Given the description of an element on the screen output the (x, y) to click on. 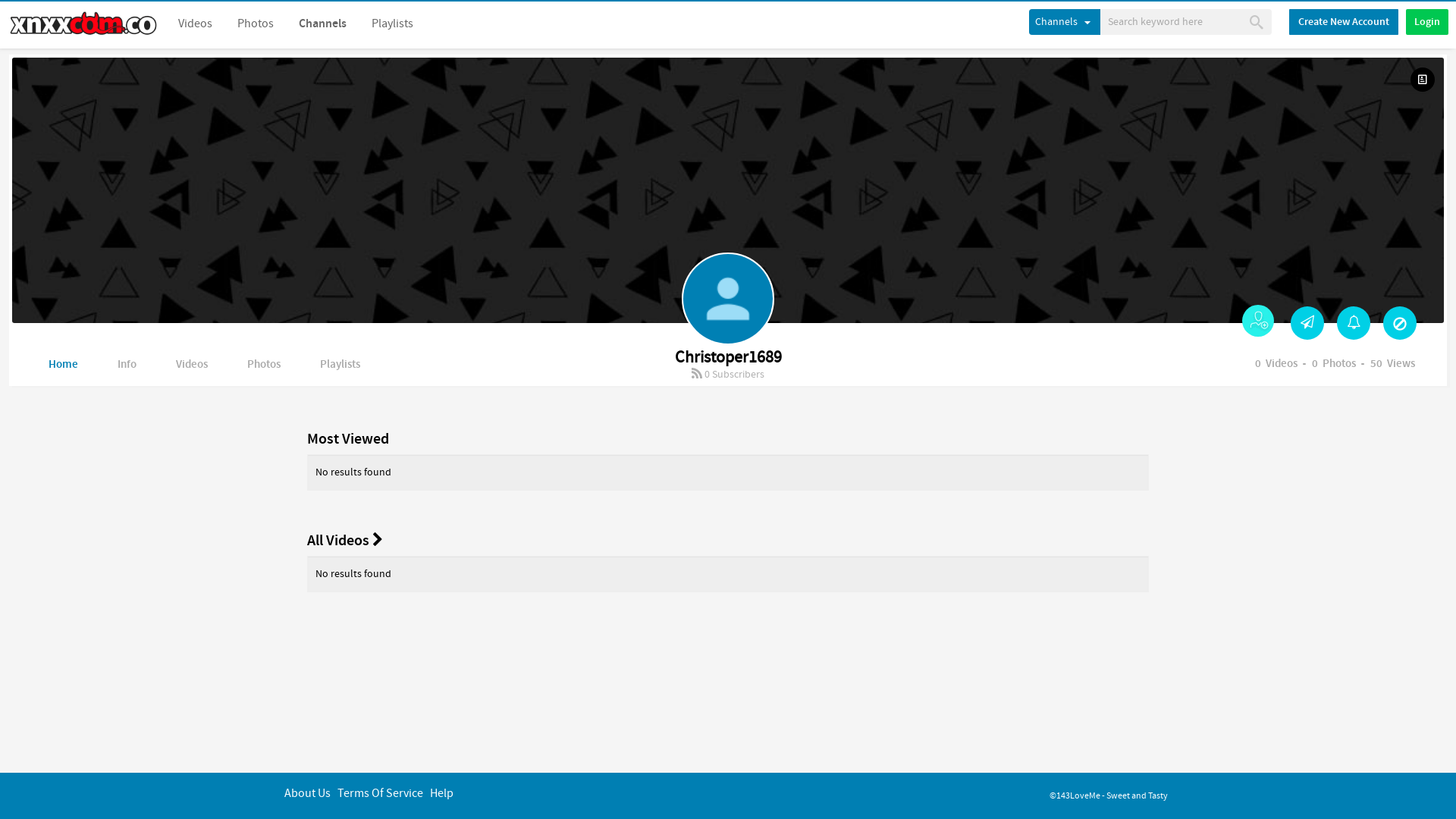
Playlists Element type: text (339, 365)
Login Element type: text (1426, 21)
Home Element type: text (63, 365)
Photos Element type: text (255, 24)
Terms Of Service Element type: text (380, 793)
About Us Element type: text (307, 793)
Playlists Element type: text (392, 24)
Help Element type: text (441, 793)
Photos Element type: text (263, 365)
Videos Element type: text (191, 365)
All Videos Element type: text (344, 540)
Create New Account Element type: text (1343, 21)
Channels Element type: text (1064, 21)
Channels Element type: text (322, 24)
Videos Element type: text (194, 24)
Info Element type: text (126, 365)
